Given the description of an element on the screen output the (x, y) to click on. 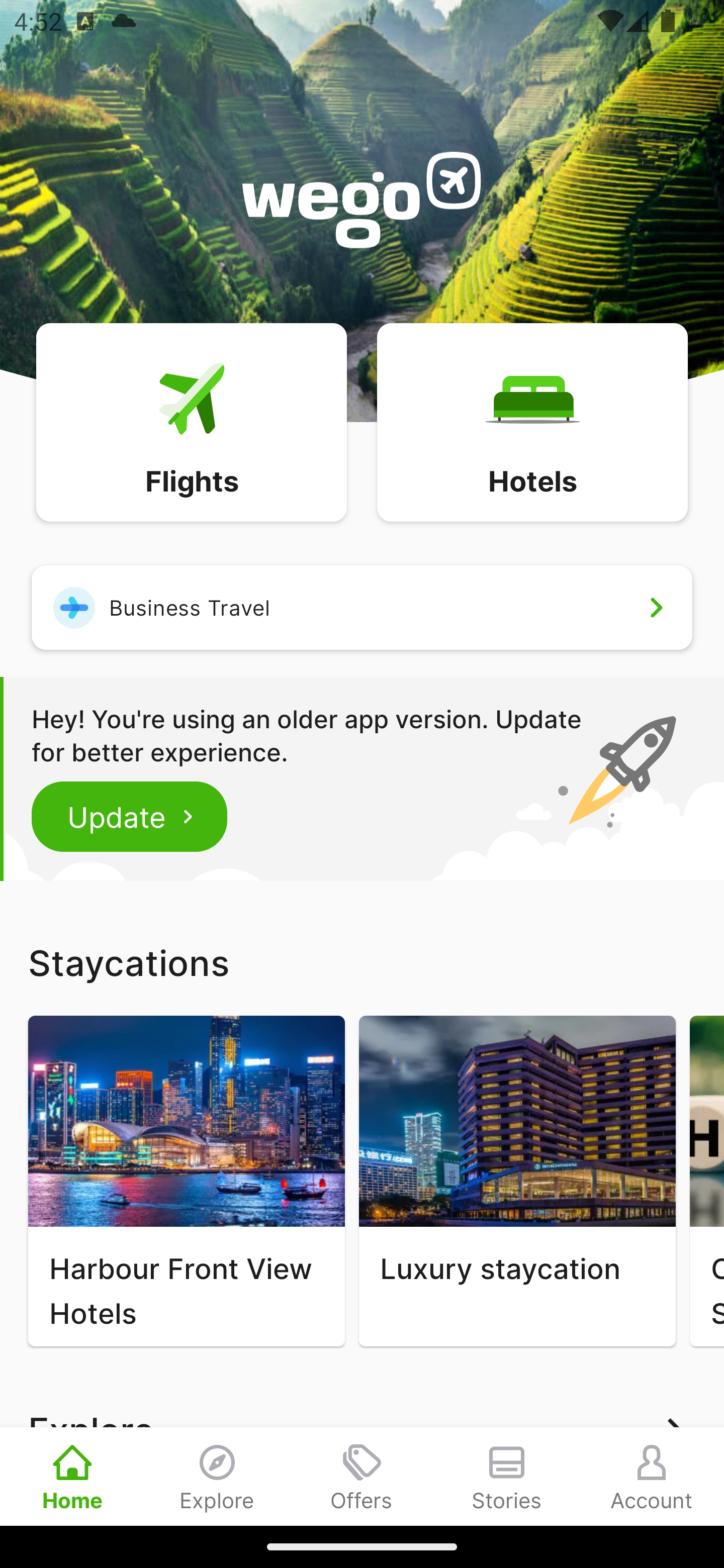
Flights (191, 420)
Hotels (532, 420)
Business Travel (361, 607)
Update (129, 815)
Staycations (362, 962)
Harbour Front View Hotels (186, 1181)
Luxury staycation (517, 1181)
Explore (216, 1475)
Offers (361, 1475)
Stories (506, 1475)
Account (651, 1475)
